Given the description of an element on the screen output the (x, y) to click on. 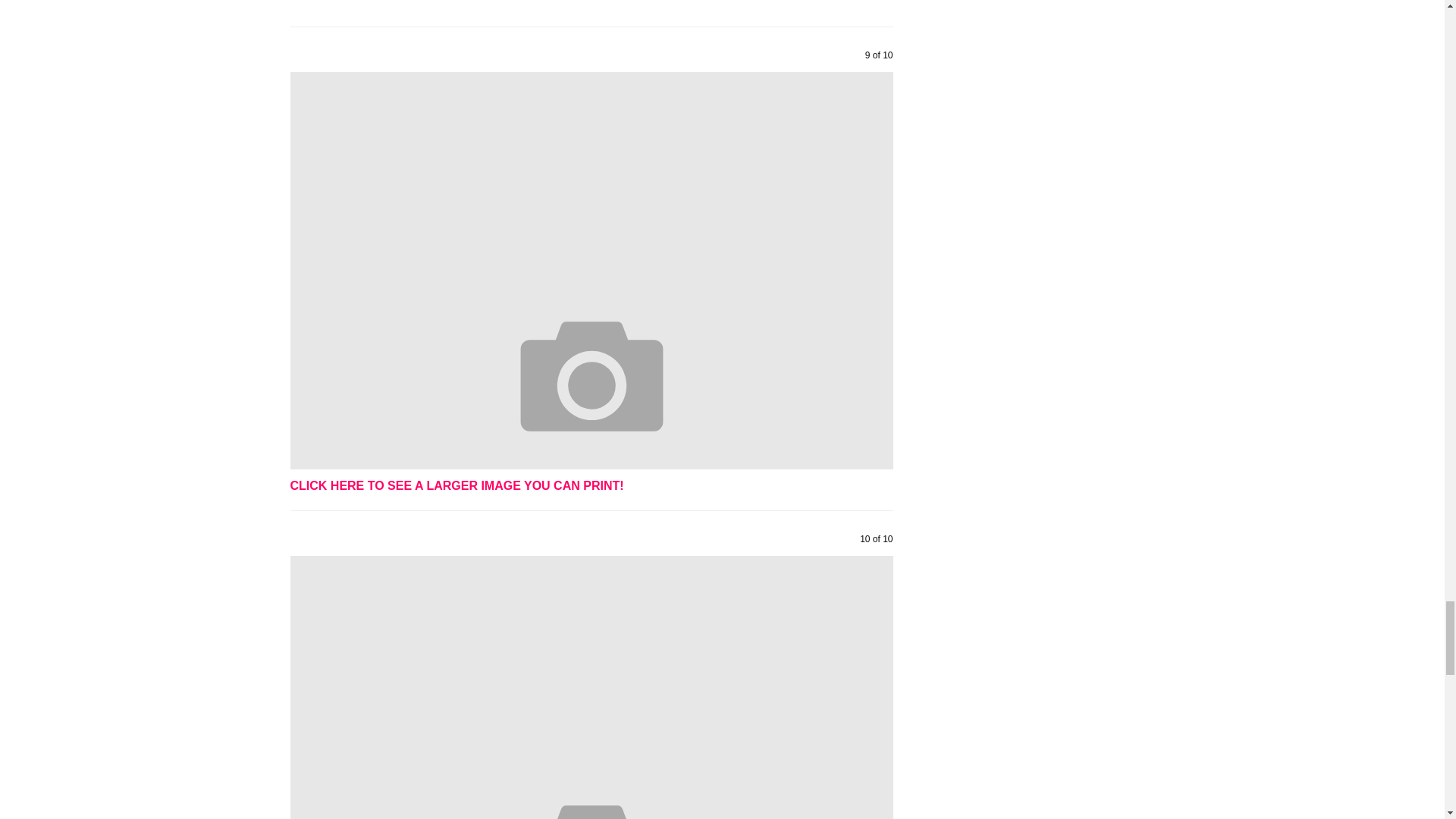
CLICK HERE TO SEE A LARGER IMAGE YOU CAN PRINT! (456, 485)
